Given the description of an element on the screen output the (x, y) to click on. 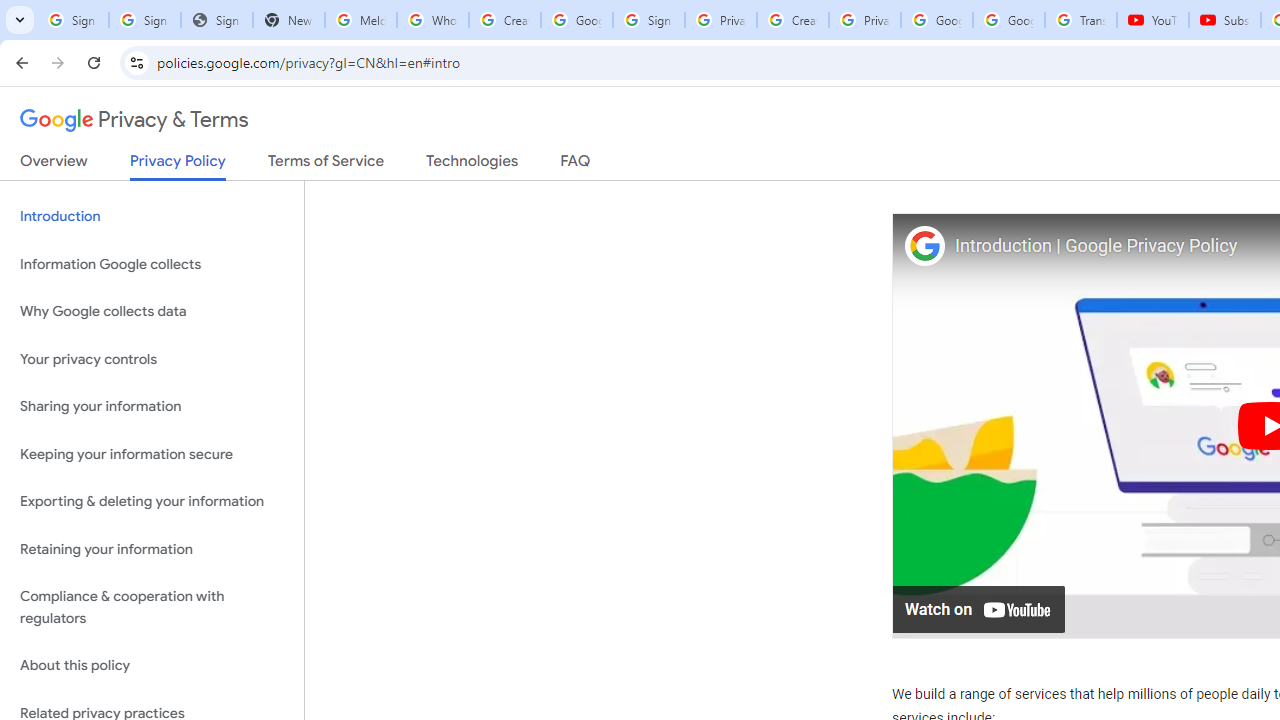
Why Google collects data (152, 312)
About this policy (152, 666)
Google Account (1008, 20)
Information Google collects (152, 263)
Retaining your information (152, 548)
Sign in - Google Accounts (648, 20)
Create your Google Account (504, 20)
Who is my administrator? - Google Account Help (432, 20)
